Given the description of an element on the screen output the (x, y) to click on. 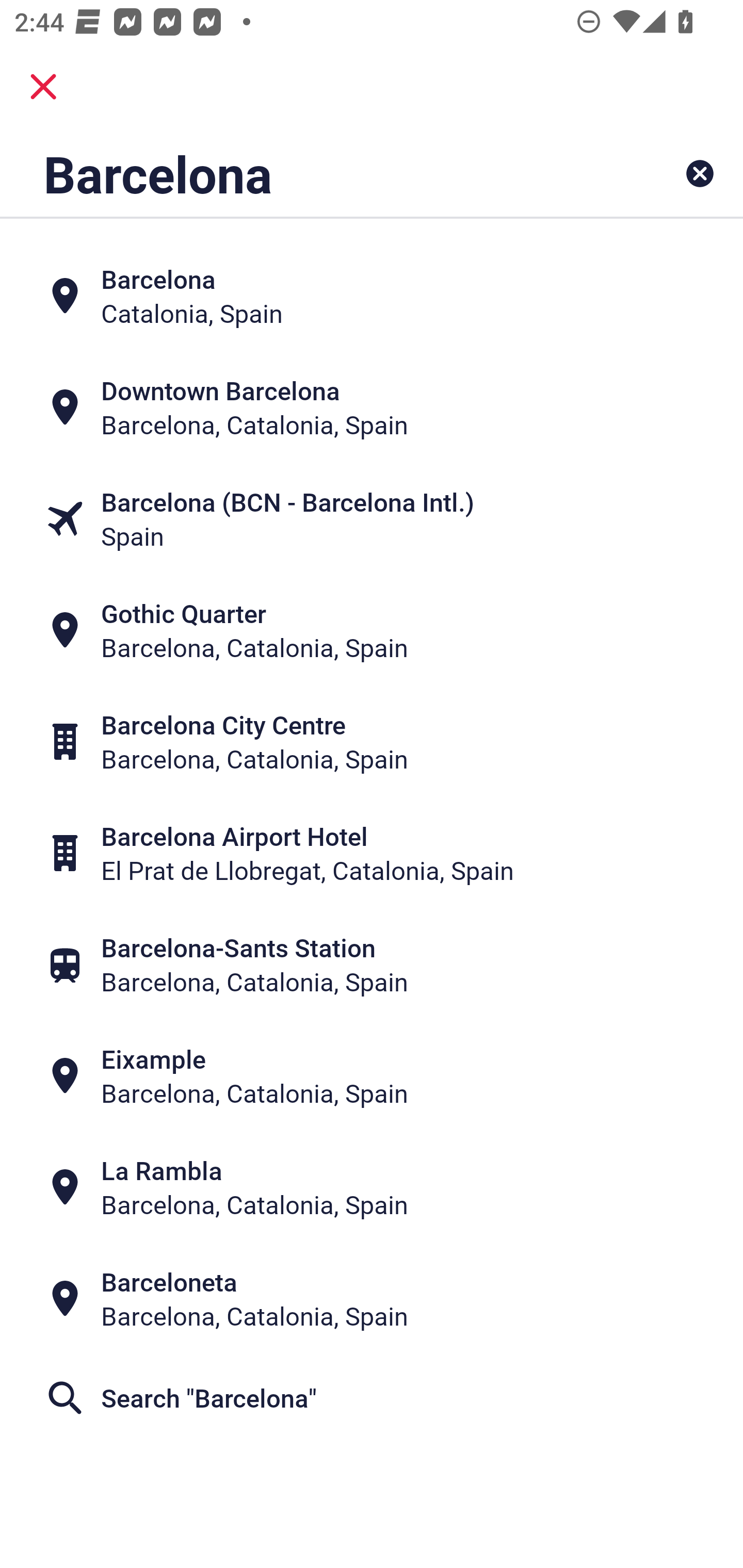
close. (43, 86)
Clear (699, 173)
Barcelona (306, 173)
Barcelona Catalonia, Spain (371, 295)
Downtown Barcelona Barcelona, Catalonia, Spain (371, 406)
Barcelona (BCN - Barcelona Intl.) Spain (371, 517)
Gothic Quarter Barcelona, Catalonia, Spain (371, 629)
Barcelona City Centre Barcelona, Catalonia, Spain (371, 742)
Eixample Barcelona, Catalonia, Spain (371, 1076)
La Rambla Barcelona, Catalonia, Spain (371, 1187)
Barceloneta Barcelona, Catalonia, Spain (371, 1298)
Search "Barcelona" (371, 1397)
